Given the description of an element on the screen output the (x, y) to click on. 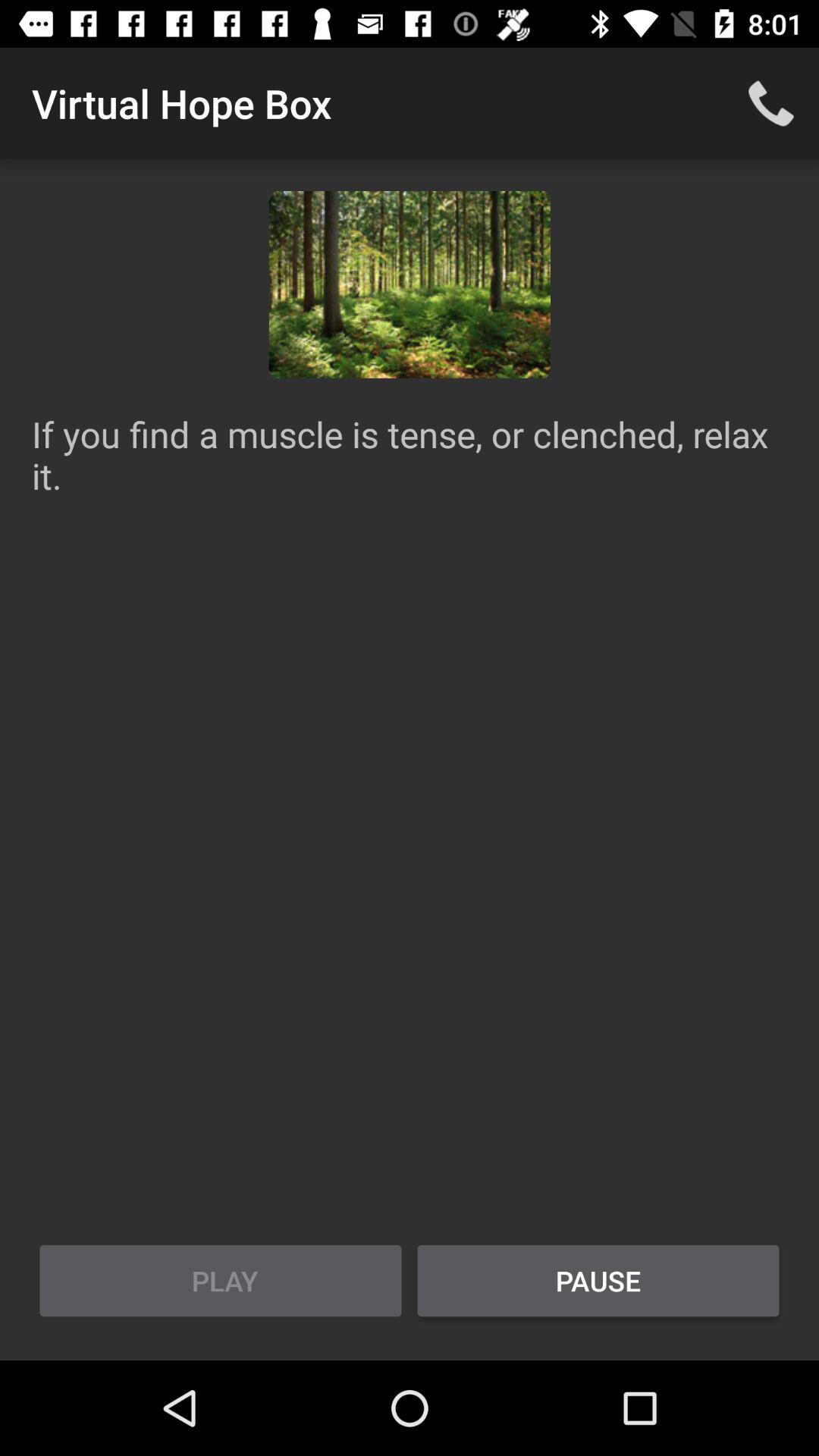
swipe until play (220, 1280)
